Given the description of an element on the screen output the (x, y) to click on. 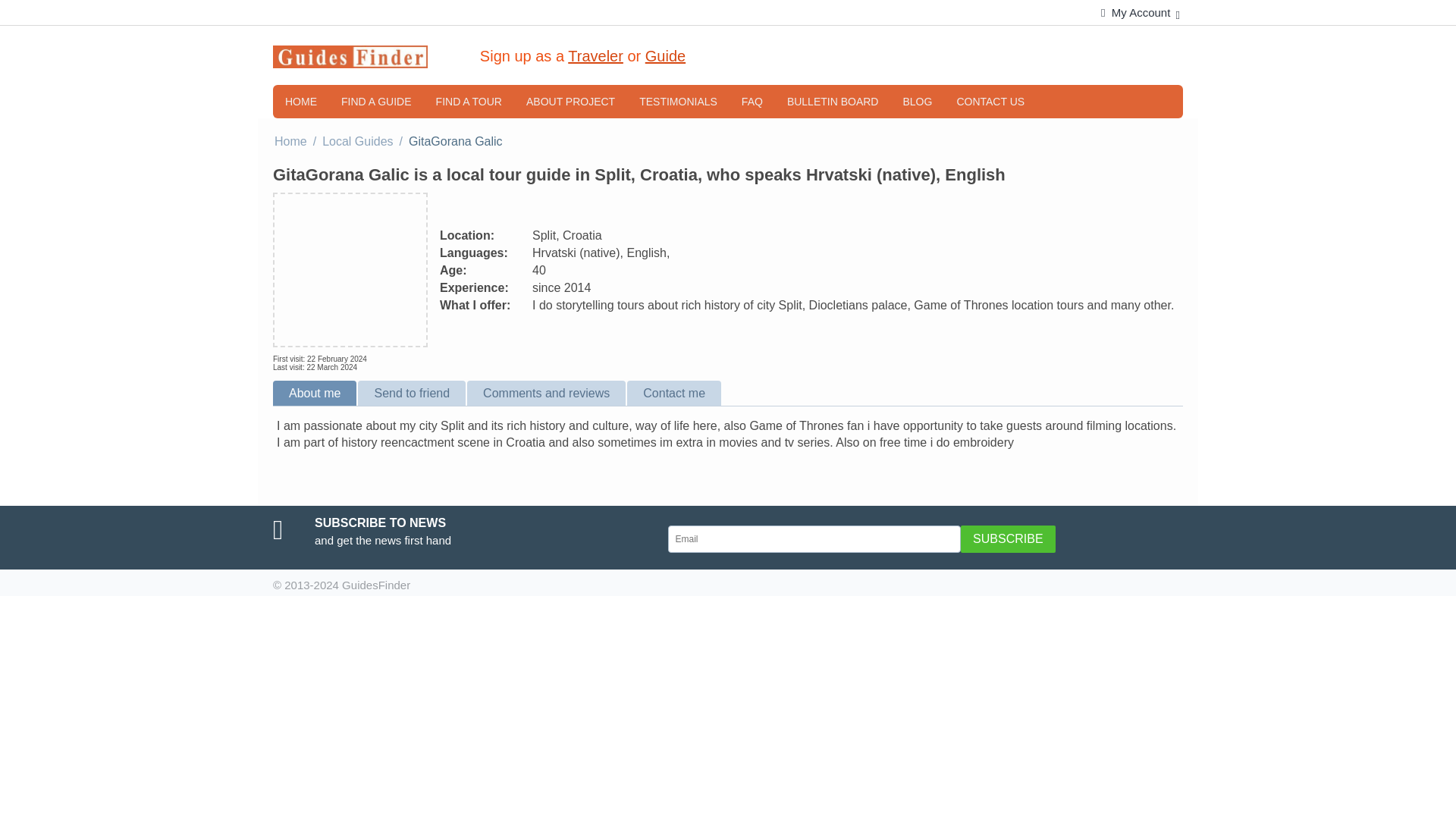
Comments and reviews (547, 392)
TESTIMONIALS (678, 101)
FIND A TOUR (468, 101)
Traveler (595, 55)
BLOG (916, 101)
ABOUT PROJECT (570, 101)
FIND A GUIDE (376, 101)
BULLETIN BOARD (832, 101)
Send to friend (412, 392)
GitaGorana Galic (350, 269)
FAQ (751, 101)
CONTACT US (989, 101)
Guide (665, 55)
Contact me (674, 392)
GuidesFinder (350, 55)
